Given the description of an element on the screen output the (x, y) to click on. 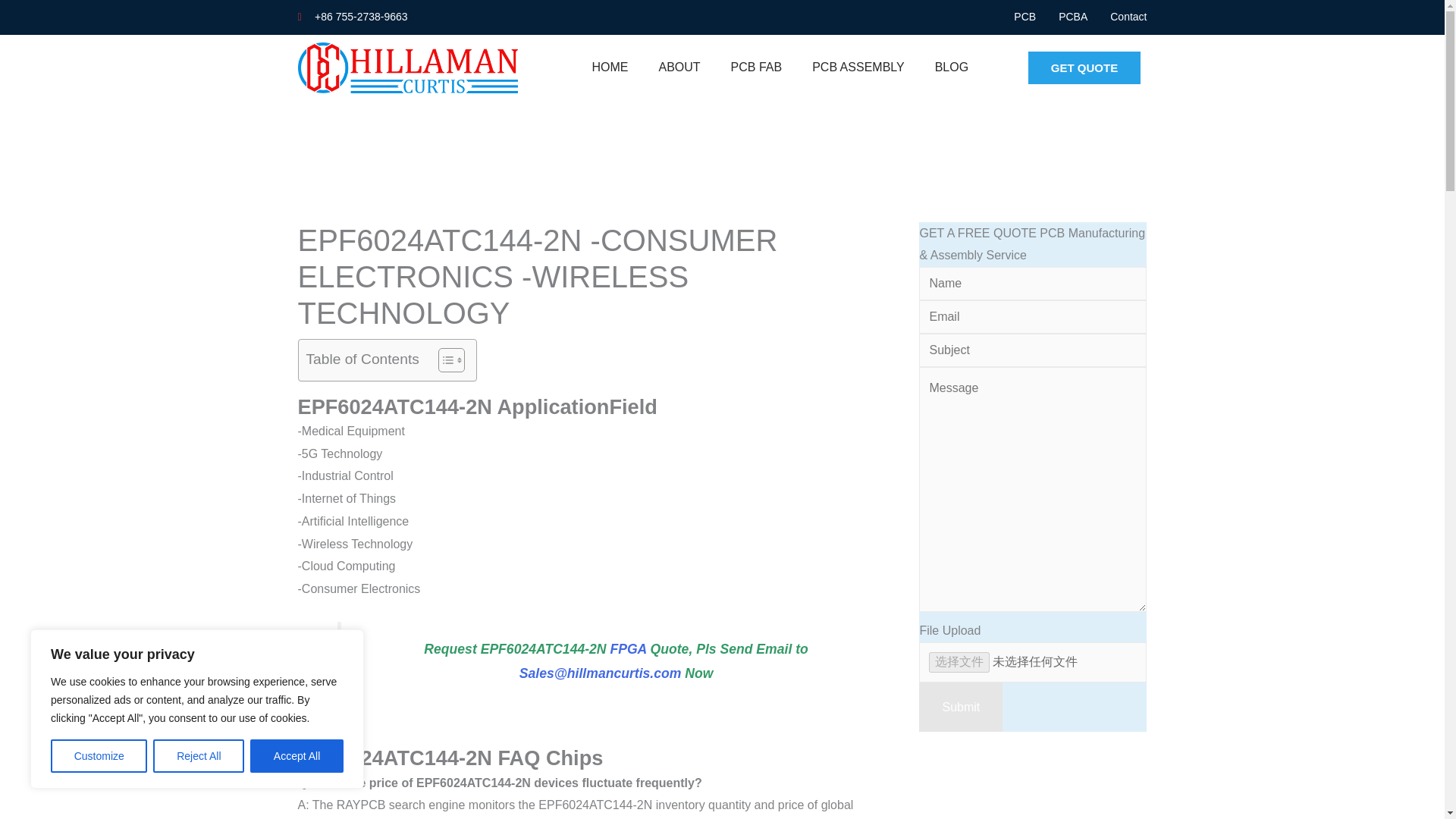
PCB FAB (756, 67)
BLOG (952, 67)
PCB ASSEMBLY (858, 67)
PCBA (1072, 17)
GET QUOTE (1083, 67)
Reject All (198, 756)
Customize (98, 756)
PCB (1024, 17)
Contact (1128, 17)
HOME (609, 67)
Accept All (296, 756)
FPGA (628, 648)
ABOUT (678, 67)
Submit (960, 707)
